Given the description of an element on the screen output the (x, y) to click on. 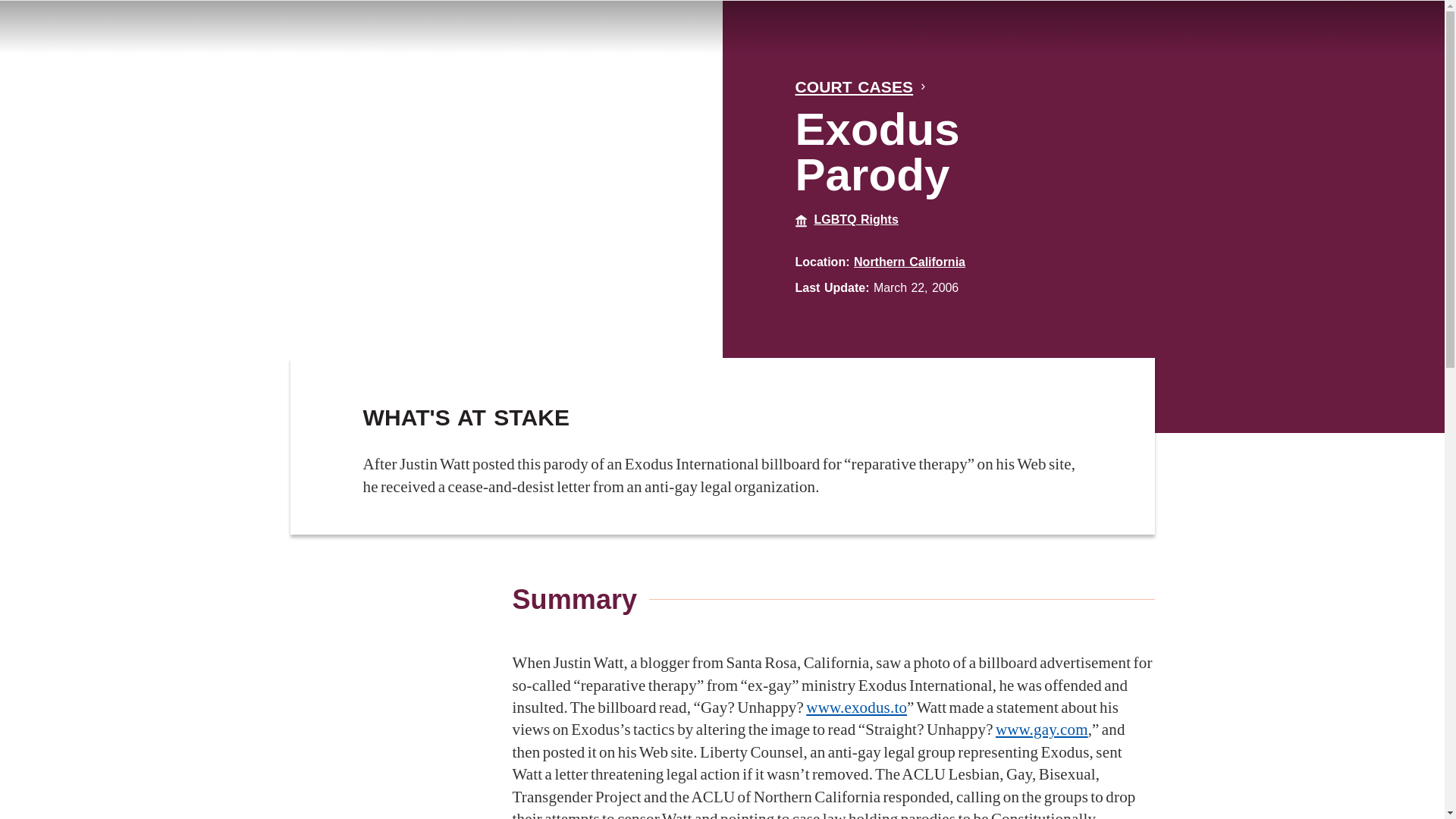
www.gay.com (1041, 729)
Northern California (909, 261)
COURT CASES (854, 86)
LGBTQ Rights (855, 219)
www.exodus.to (856, 707)
